Given the description of an element on the screen output the (x, y) to click on. 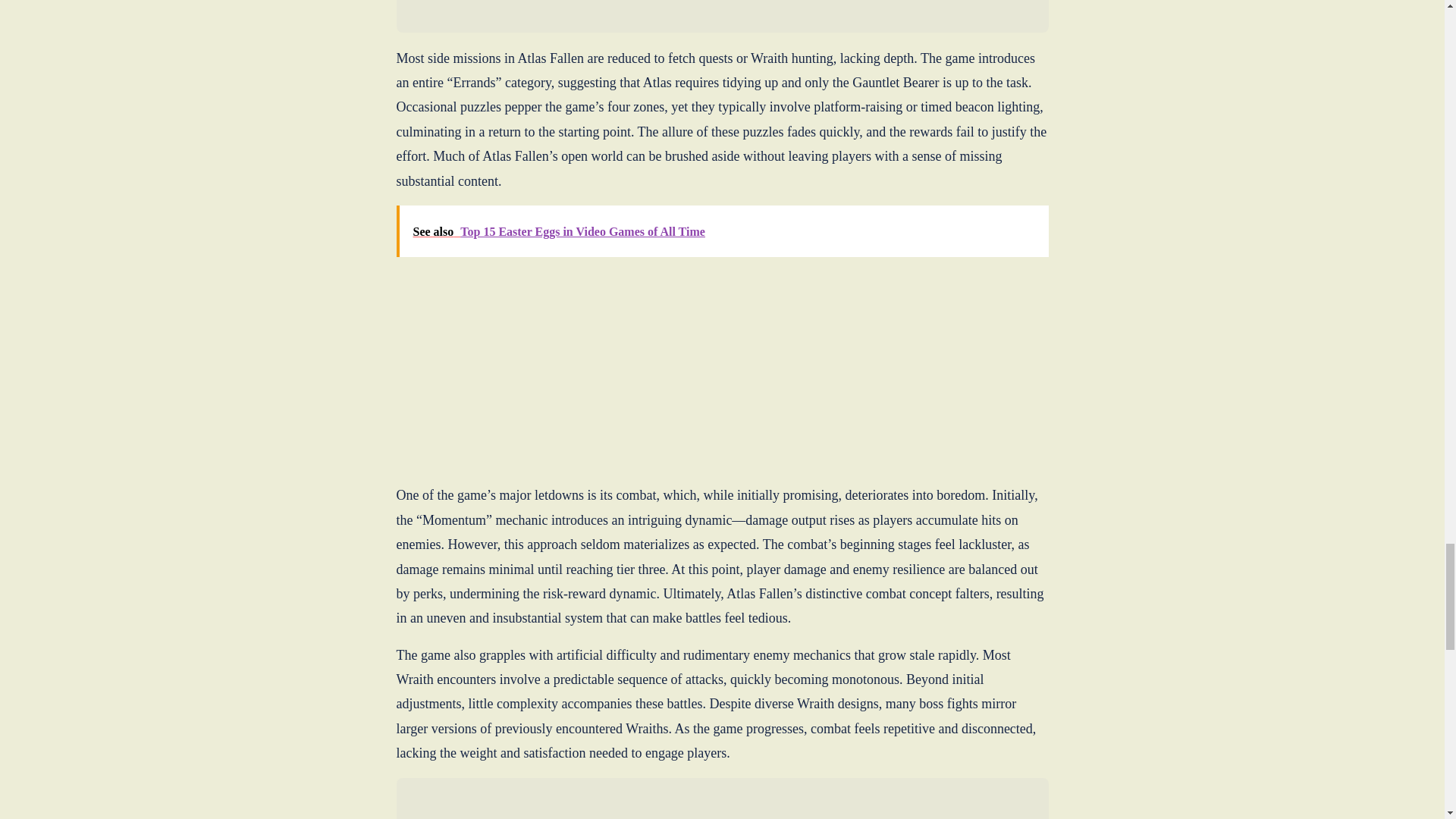
See also  Top 15 Easter Eggs in Video Games of All Time (722, 231)
